Given the description of an element on the screen output the (x, y) to click on. 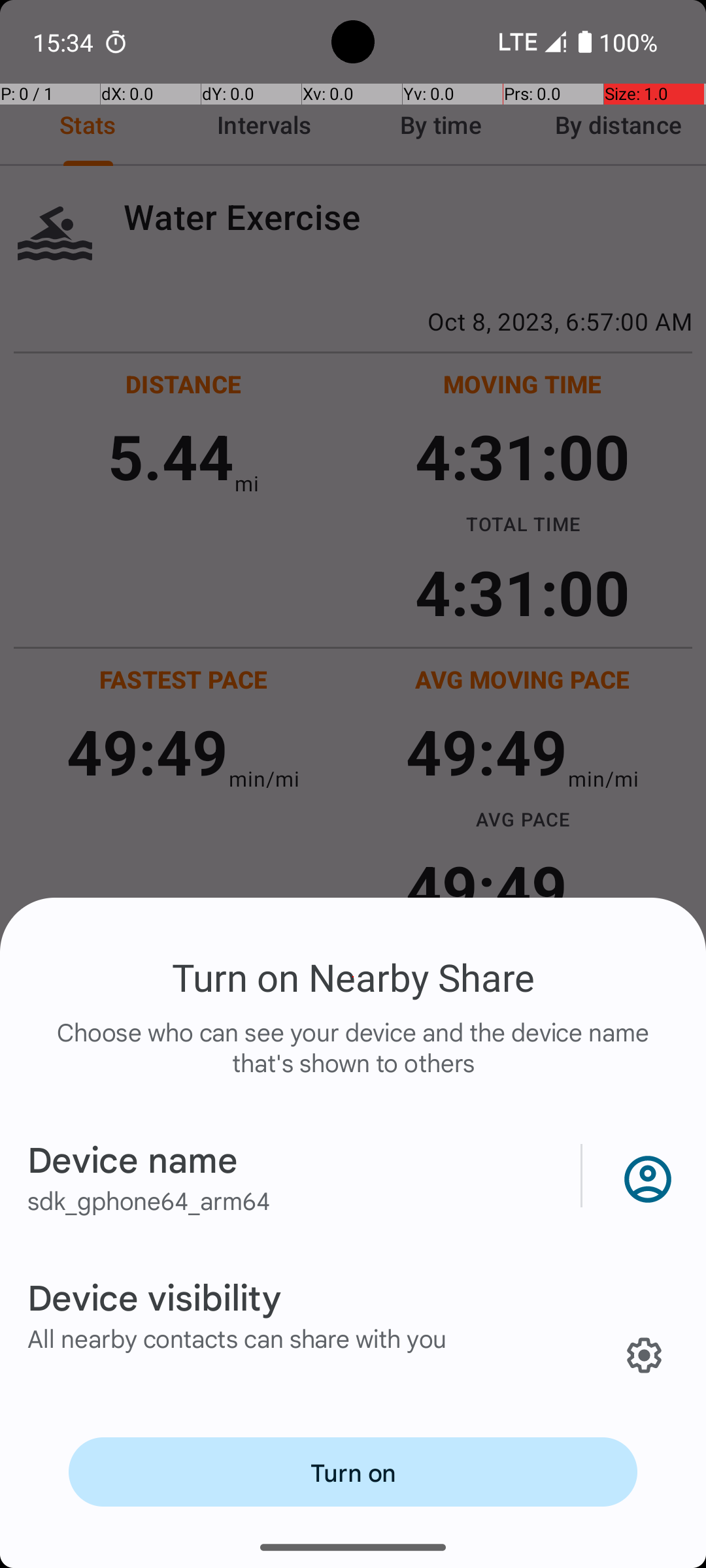
Turn on Nearby Share Element type: android.widget.TextView (353, 976)
Choose who can see your device and the device name that's shown to others Element type: android.widget.TextView (353, 1060)
No account found Element type: android.widget.FrameLayout (644, 1175)
Turn on Element type: android.widget.Button (352, 1471)
All nearby contacts can share with you Element type: android.widget.TextView (237, 1338)
